Given the description of an element on the screen output the (x, y) to click on. 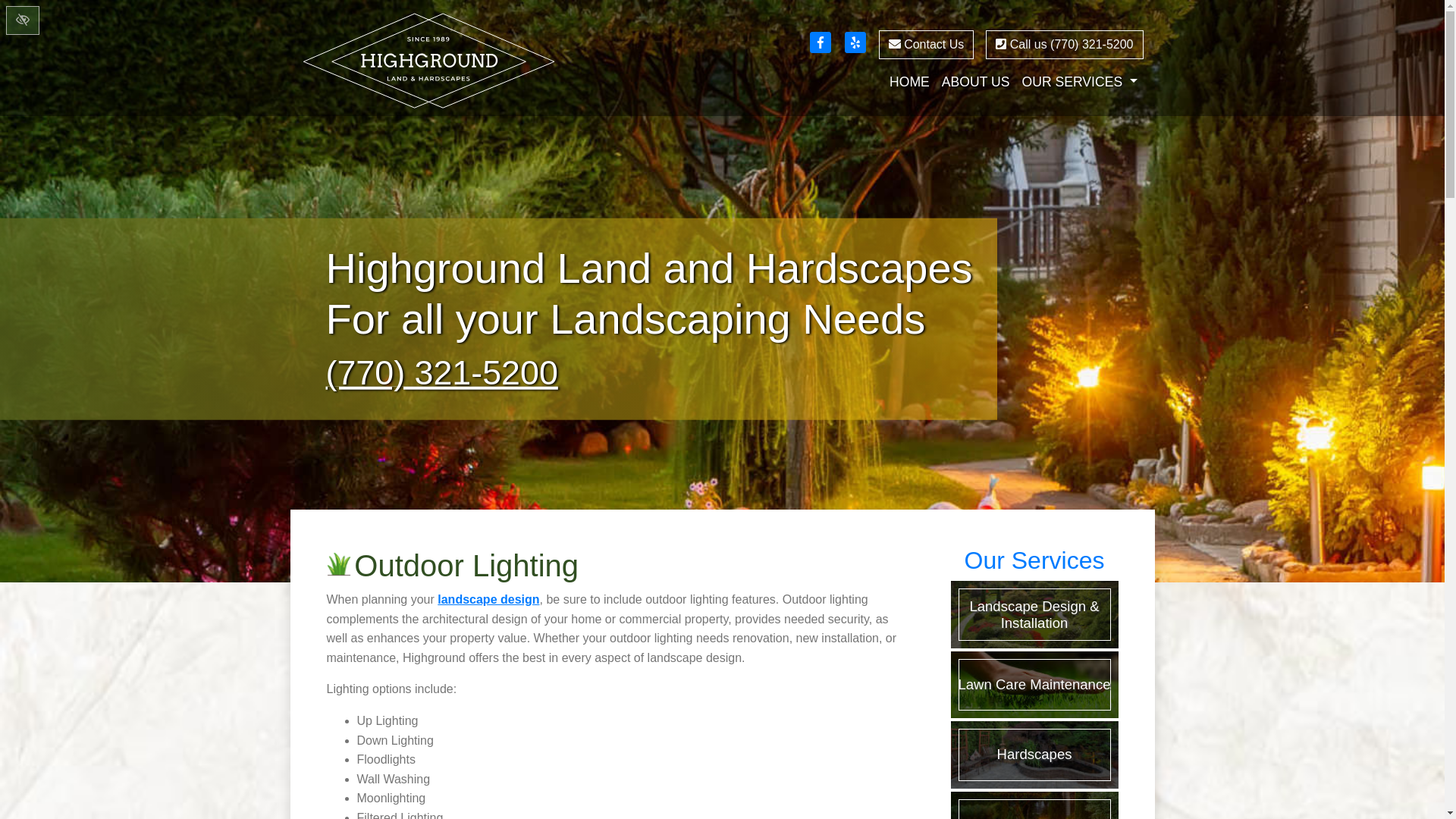
Outdoor Lighting (1034, 805)
Lawn Care Maintenance (1034, 684)
Hardscapes (1034, 754)
Fulton County GA Landscape Designers (488, 599)
landscape design (488, 599)
Skip to main content (9, 4)
ABOUT US (976, 81)
HOME (909, 81)
Contact Us (926, 44)
OUR SERVICES (1078, 81)
